Given the description of an element on the screen output the (x, y) to click on. 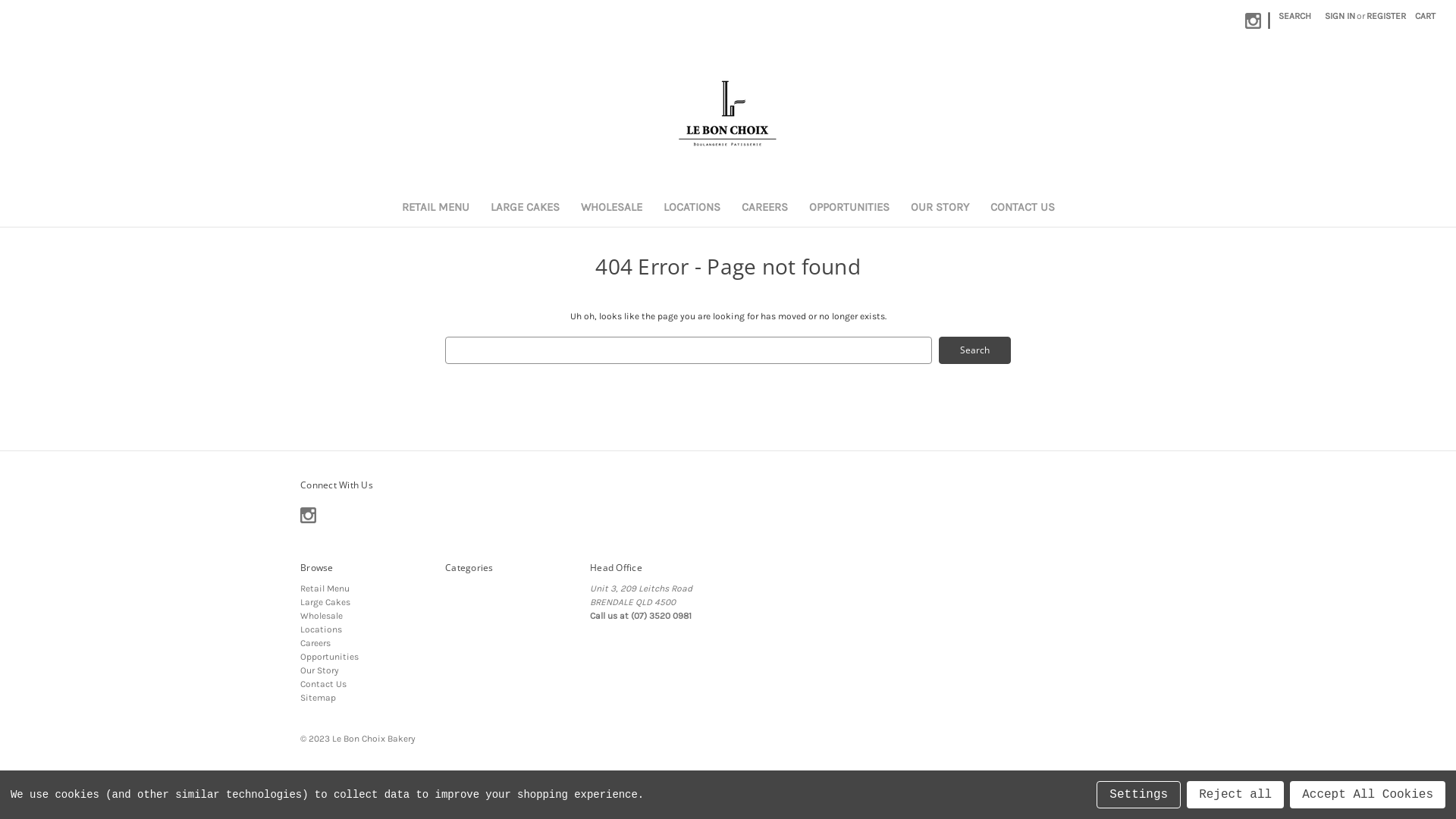
LE BON CHOIX Element type: hover (727, 112)
Large Cakes Element type: text (325, 601)
SEARCH Element type: text (1294, 15)
Search Element type: text (974, 350)
Our Story Element type: text (319, 669)
OUR STORY Element type: text (939, 208)
WHOLESALE Element type: text (611, 208)
Opportunities Element type: text (329, 655)
Reject all Element type: text (1234, 794)
CAREERS Element type: text (764, 208)
SIGN IN Element type: text (1339, 15)
Careers Element type: text (315, 642)
Instagram Element type: hover (1253, 20)
OPPORTUNITIES Element type: text (848, 208)
LARGE CAKES Element type: text (524, 208)
Contact Us Element type: text (323, 682)
Instagram Element type: hover (308, 515)
REGISTER Element type: text (1385, 15)
RETAIL MENU Element type: text (435, 208)
LOCATIONS Element type: text (691, 208)
Wholesale Element type: text (321, 614)
CART Element type: text (1425, 15)
Settings Element type: text (1138, 794)
Locations Element type: text (321, 628)
Accept All Cookies Element type: text (1367, 794)
Sitemap Element type: text (317, 696)
Retail Menu Element type: text (324, 587)
CONTACT US Element type: text (1022, 208)
